Given the description of an element on the screen output the (x, y) to click on. 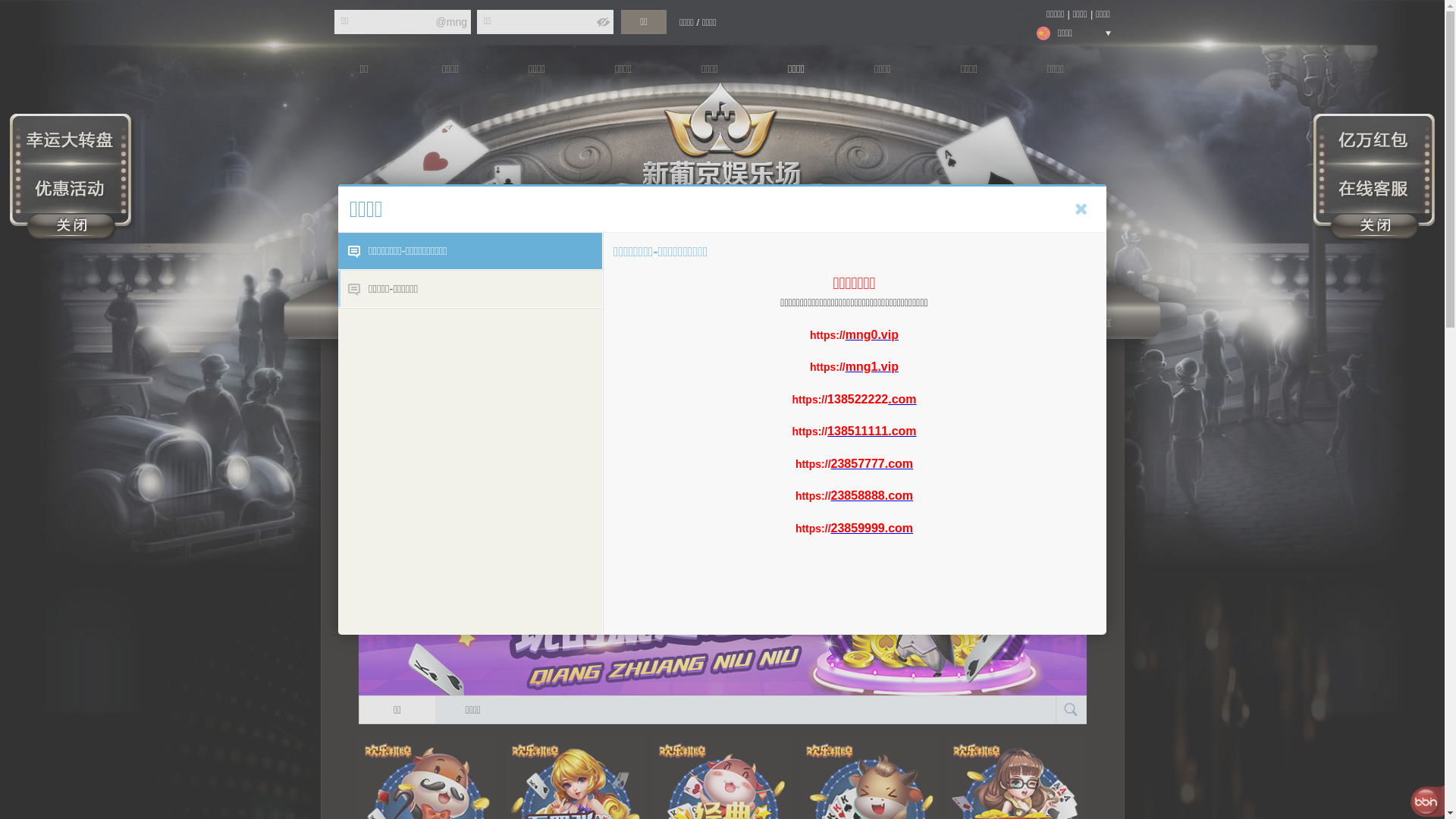
138511111.com Element type: text (871, 430)
23858888.com Element type: text (872, 495)
23857777.com Element type: text (872, 462)
. Element type: text (878, 366)
mng1 Element type: text (861, 366)
vip Element type: text (889, 366)
mng0.vip Element type: text (871, 333)
23859999.com Element type: text (872, 527)
.com Element type: text (902, 398)
